Given the description of an element on the screen output the (x, y) to click on. 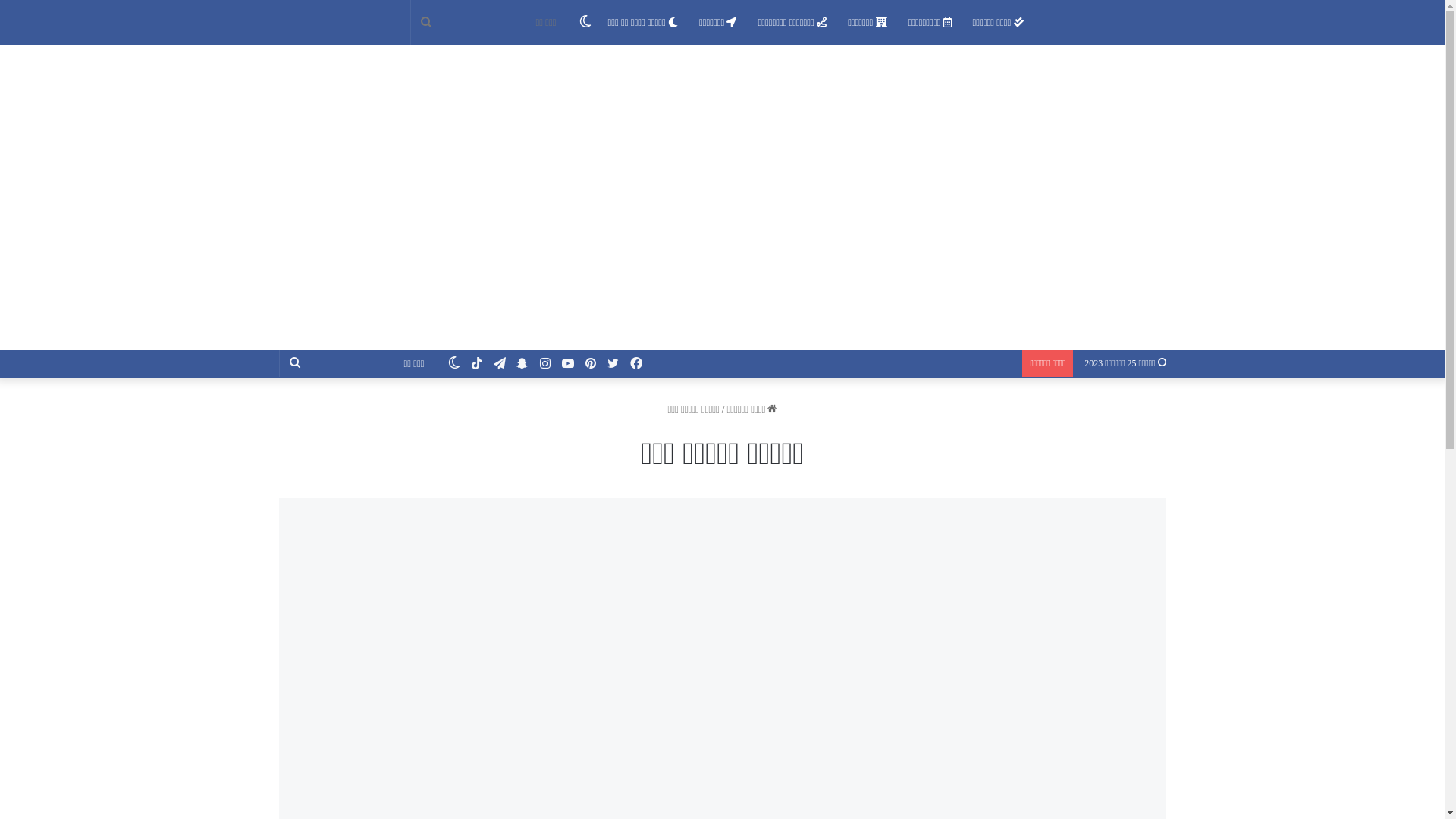
Advertisement Element type: hover (721, 235)
